Given the description of an element on the screen output the (x, y) to click on. 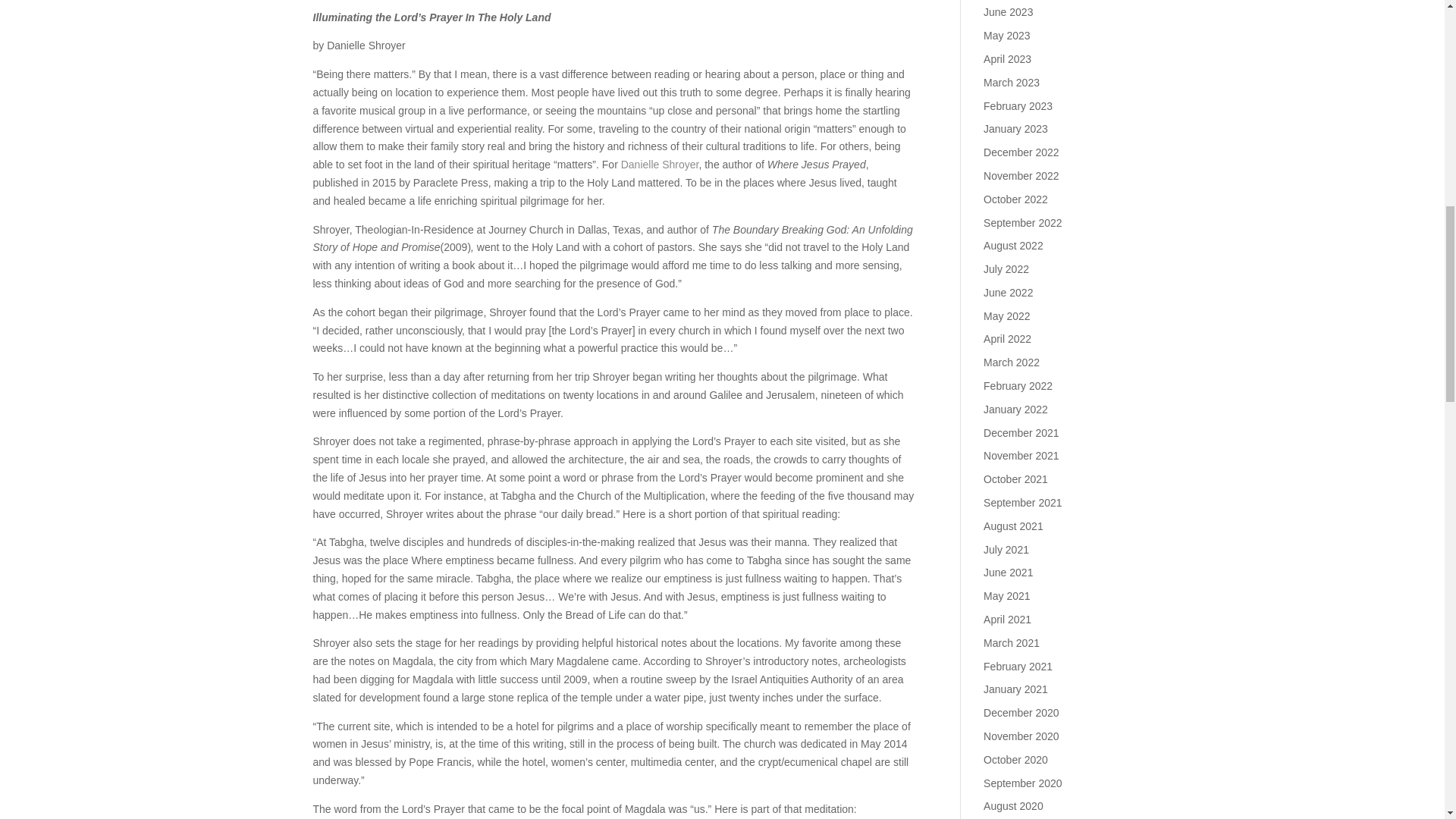
January 2023 (1016, 128)
February 2023 (1018, 105)
Danielle Shroyer (659, 164)
April 2023 (1007, 59)
June 2023 (1008, 11)
December 2022 (1021, 152)
May 2023 (1006, 35)
March 2023 (1011, 82)
